Given the description of an element on the screen output the (x, y) to click on. 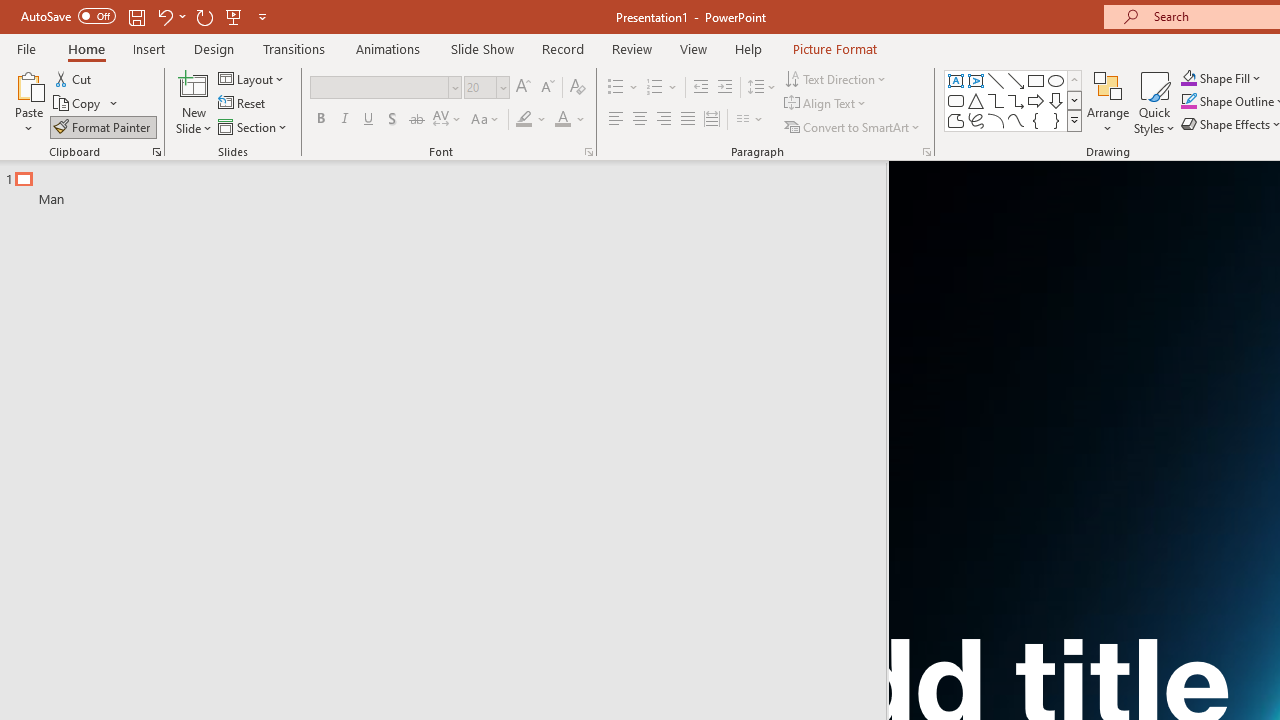
Picture Format (834, 48)
